Given the description of an element on the screen output the (x, y) to click on. 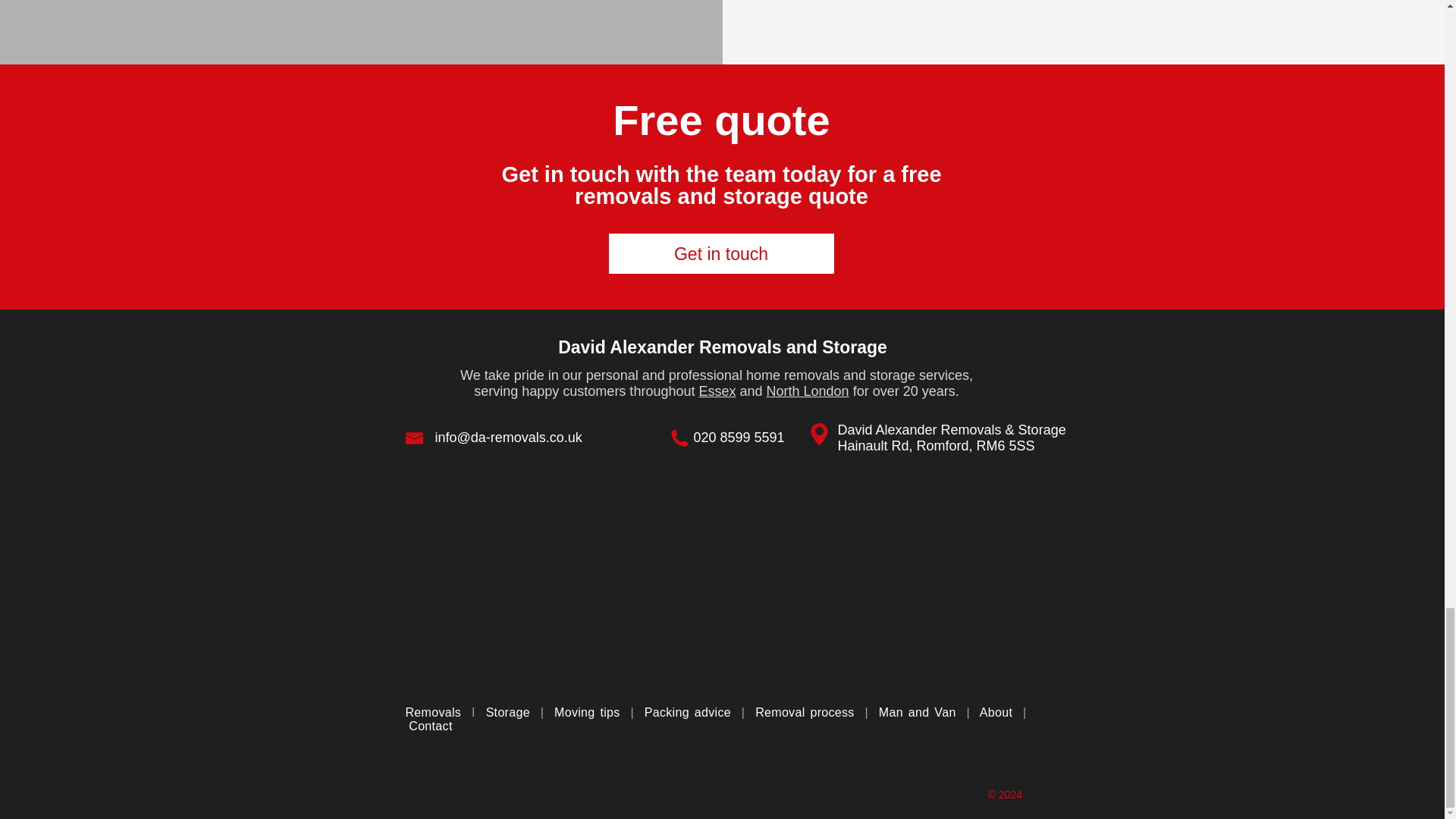
Storage (507, 712)
Essex (716, 391)
020 8599 5591 (738, 437)
North London (807, 391)
Removals (432, 712)
Get in touch (720, 253)
